Given the description of an element on the screen output the (x, y) to click on. 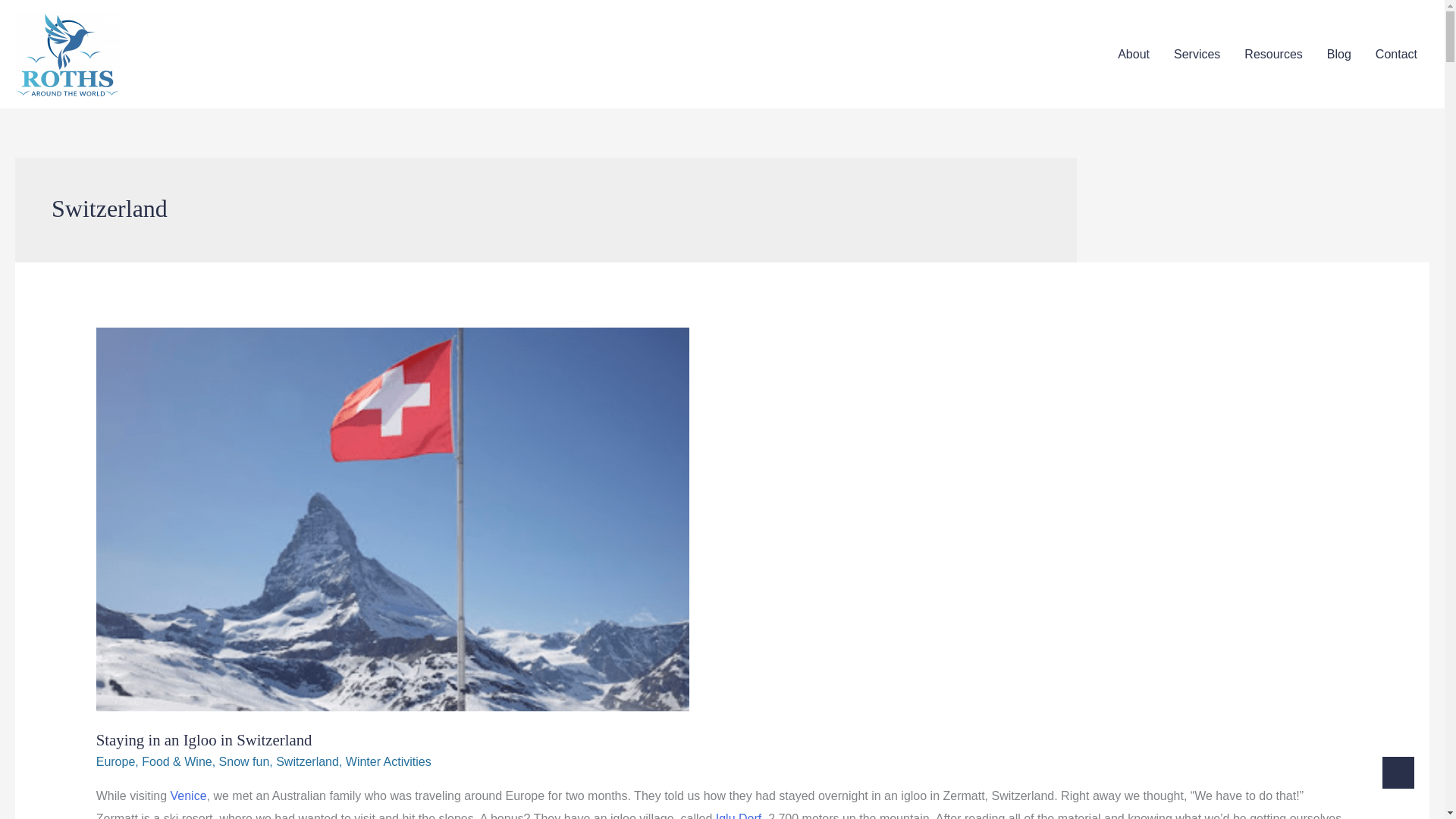
Snow fun (244, 761)
Services (1196, 54)
Resources (1272, 54)
Contact (1395, 54)
About (1133, 54)
Staying in an Igloo in Switzerland (204, 739)
Venice (188, 795)
Switzerland (307, 761)
Iglu Dorf (738, 815)
Winter Activities (388, 761)
